Given the description of an element on the screen output the (x, y) to click on. 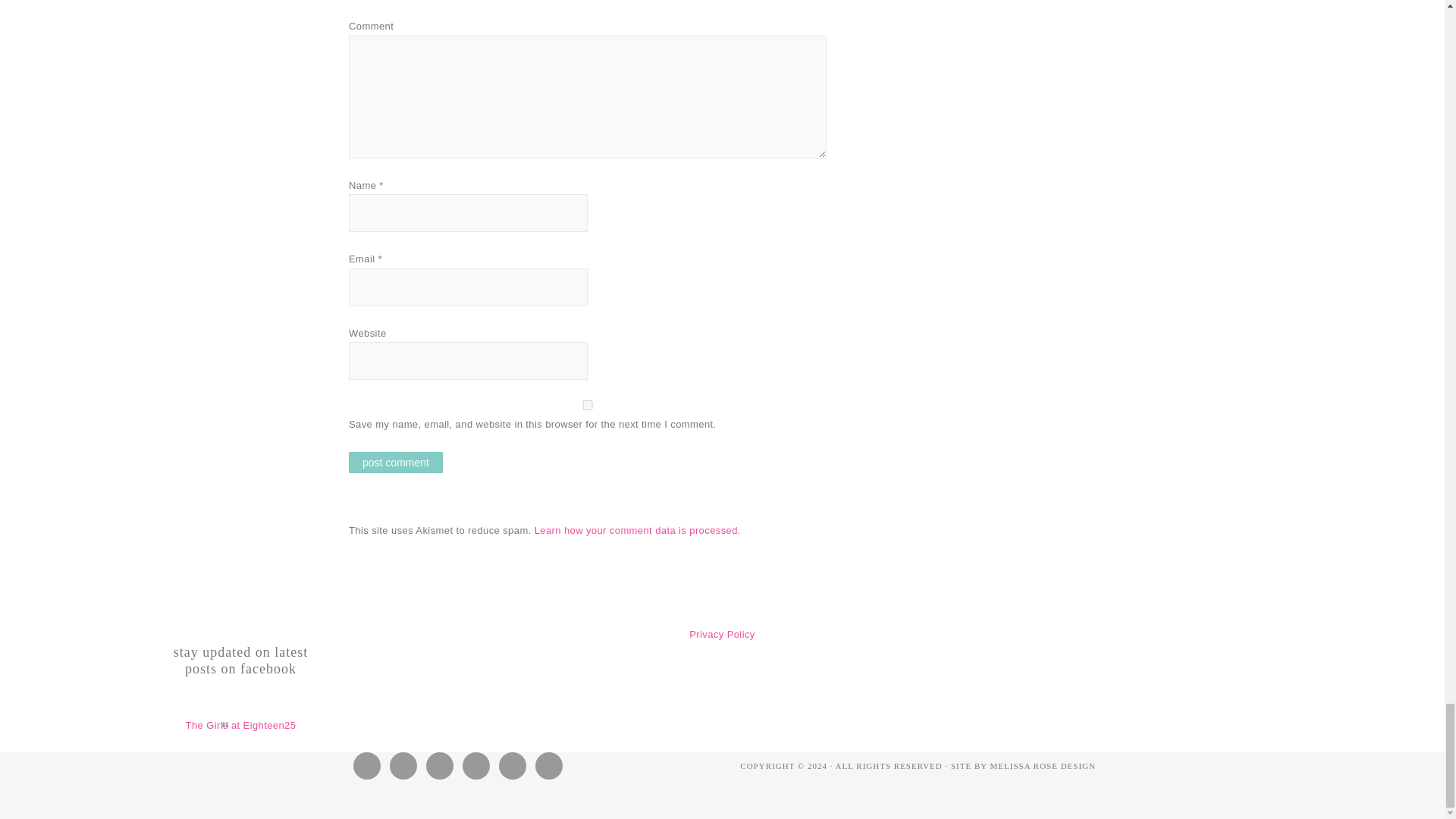
Post Comment (395, 462)
yes (588, 405)
